Given the description of an element on the screen output the (x, y) to click on. 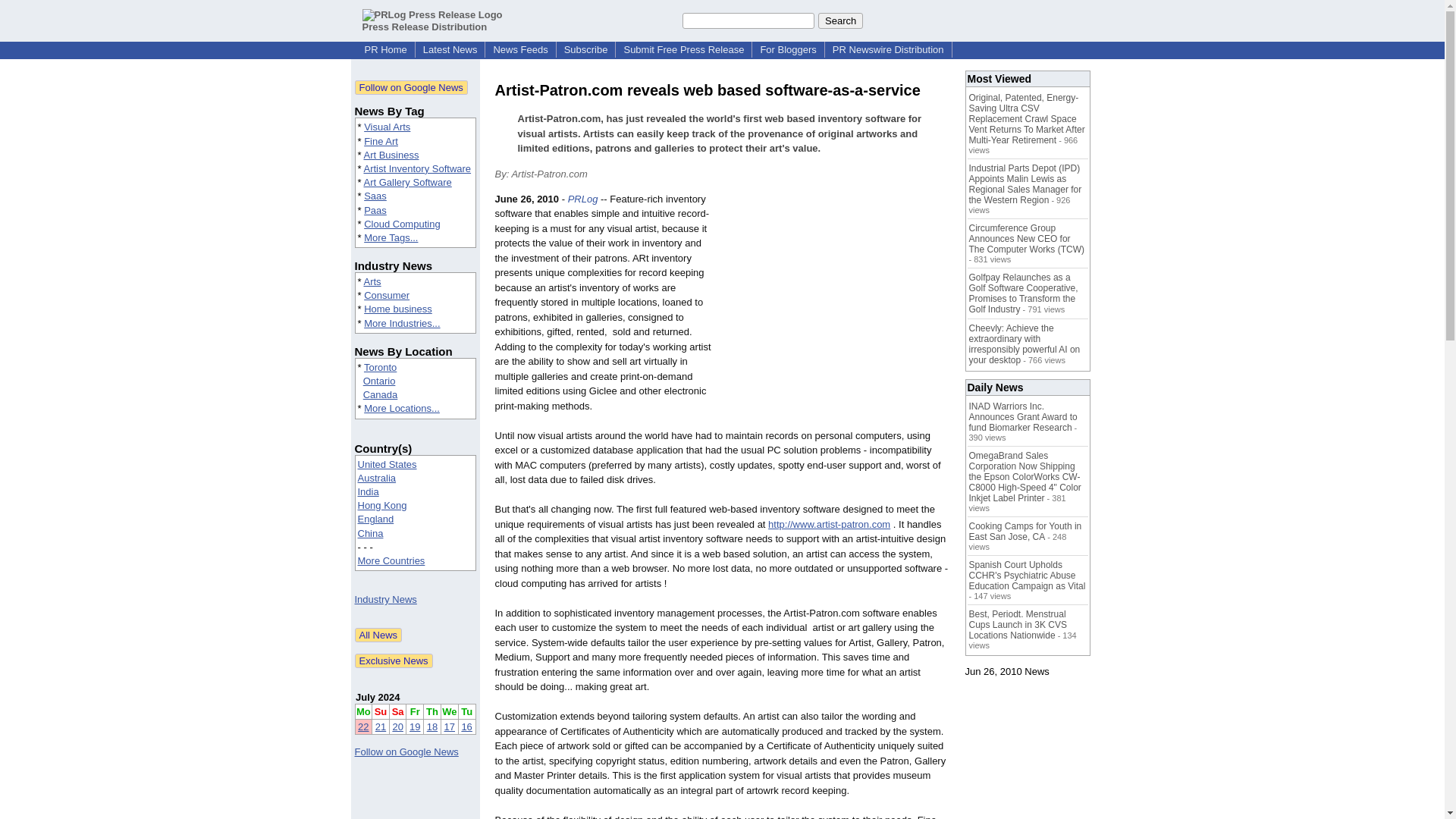
Visual Arts (387, 126)
Fine Art (380, 141)
Home business (398, 308)
United States (387, 464)
India (368, 491)
Arts (371, 281)
PR Newswire Distribution (888, 49)
Press Release Distribution (432, 20)
Exclusive News (393, 660)
Artist Inventory Software (416, 168)
All News (379, 635)
Saas (375, 195)
Search (840, 20)
China (371, 532)
Paas (375, 210)
